Given the description of an element on the screen output the (x, y) to click on. 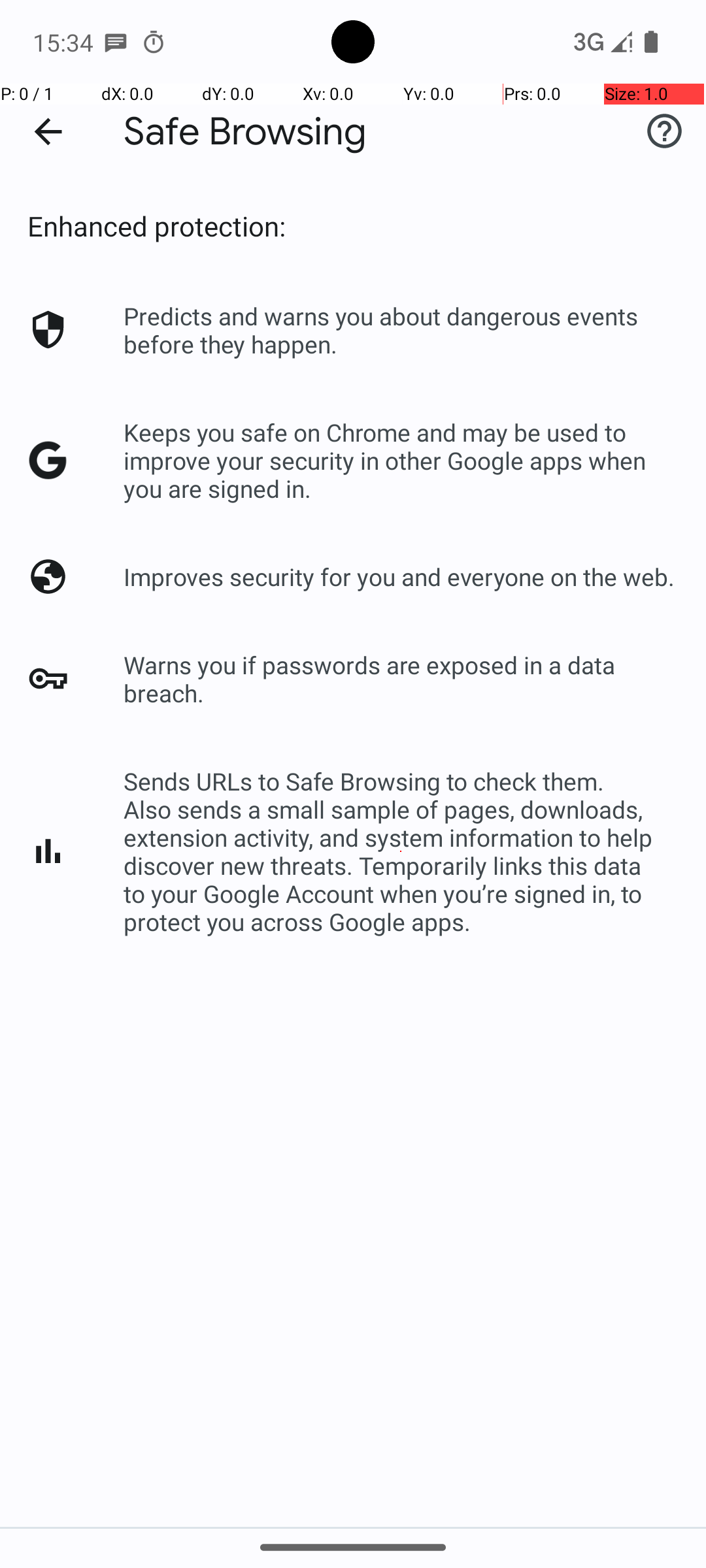
Enhanced protection: Element type: android.widget.TextView (156, 225)
Predicts and warns you about dangerous events before they happen. Element type: android.widget.TextView (400, 329)
Keeps you safe on Chrome and may be used to improve your security in other Google apps when you are signed in. Element type: android.widget.TextView (400, 460)
Improves security for you and everyone on the web. Element type: android.widget.TextView (399, 576)
Warns you if passwords are exposed in a data breach. Element type: android.widget.TextView (400, 678)
Sends URLs to Safe Browsing to check them. Also sends a small sample of pages, downloads, extension activity, and system information to help discover new threats. Temporarily links this data to your Google Account when you’re signed in, to protect you across Google apps. Element type: android.widget.TextView (400, 851)
